Given the description of an element on the screen output the (x, y) to click on. 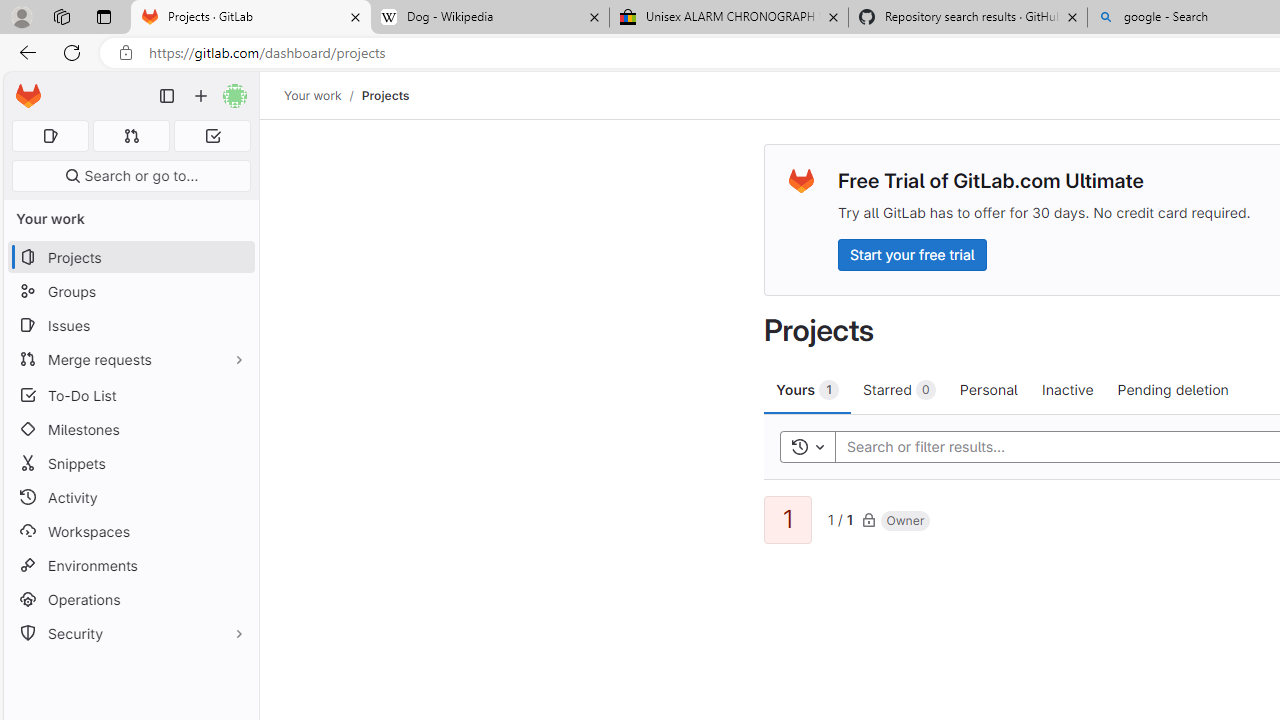
Operations (130, 599)
Class: s16 (868, 519)
Primary navigation sidebar (167, 96)
To-Do list 0 (212, 136)
Activity (130, 497)
Inactive (1067, 389)
Pending deletion (1172, 389)
Merge requests 0 (131, 136)
Activity (130, 497)
Groups (130, 291)
